Given the description of an element on the screen output the (x, y) to click on. 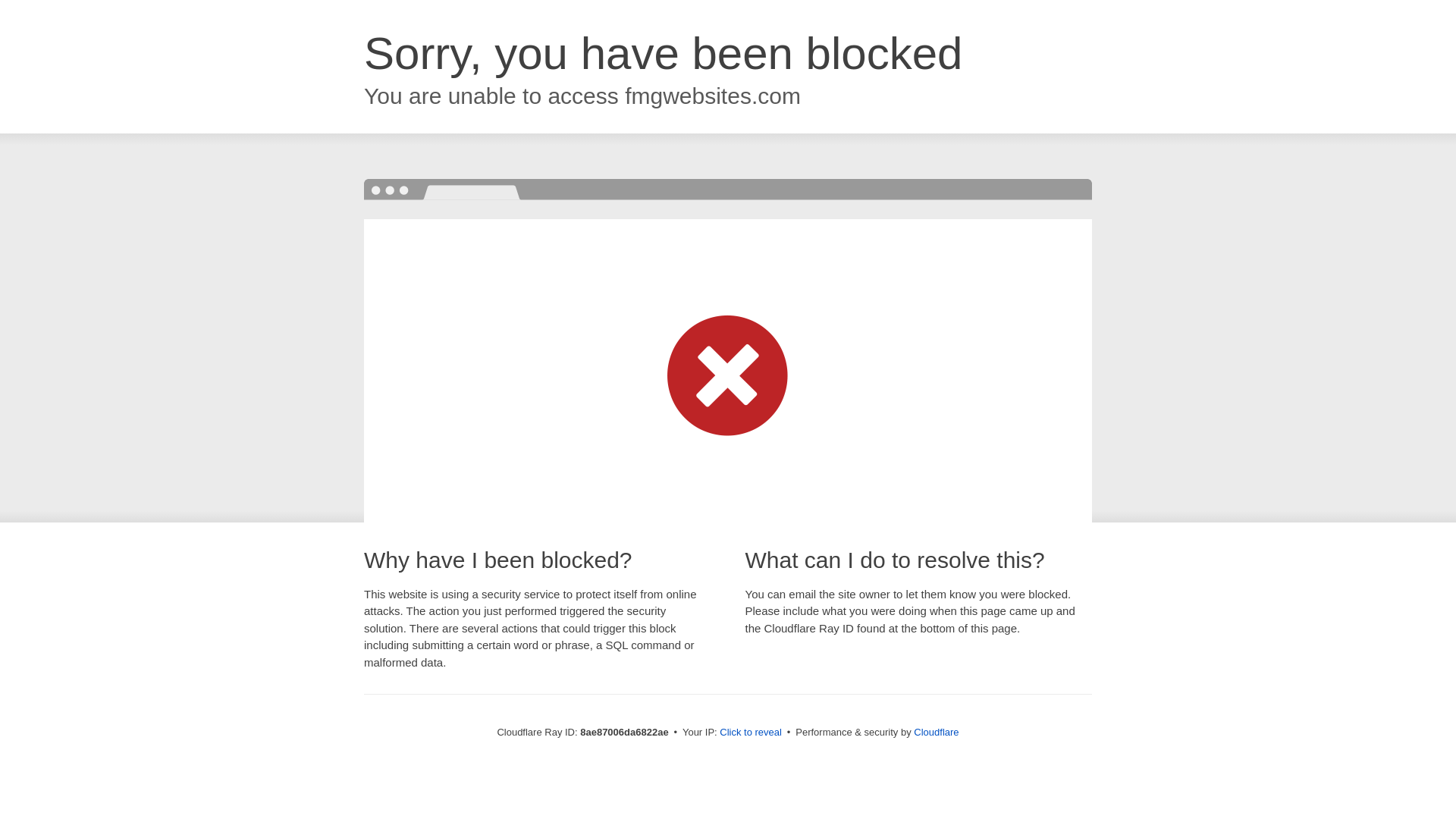
Click to reveal (750, 732)
Cloudflare (936, 731)
